Given the description of an element on the screen output the (x, y) to click on. 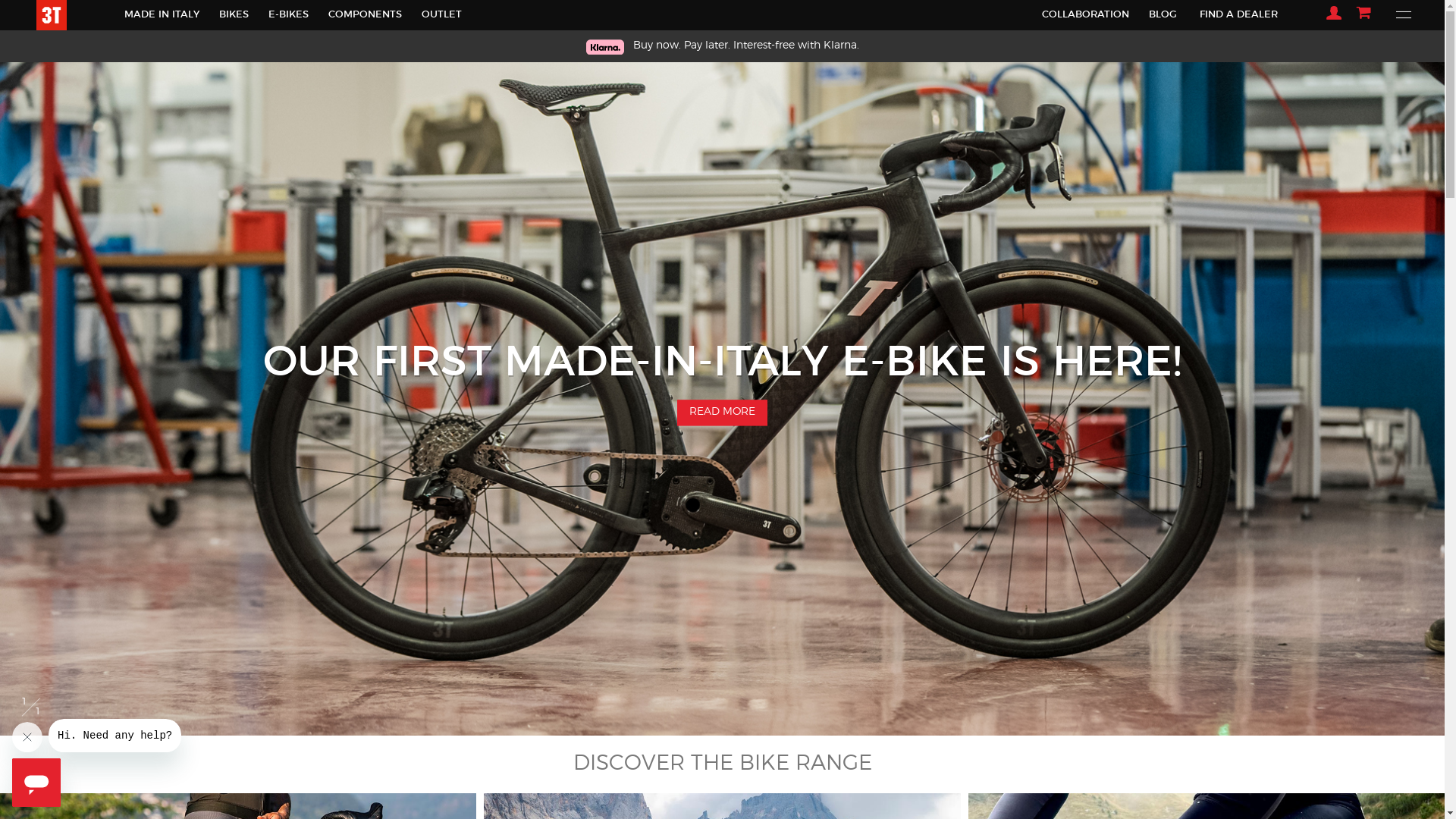
READ MORE Element type: text (722, 412)
OUTLET Element type: text (441, 15)
Button to launch messaging window Element type: hover (36, 782)
COMPONENTS Element type: text (364, 15)
Message from company Element type: hover (114, 735)
MADE IN ITALY Element type: text (161, 15)
Close message Element type: hover (27, 736)
FIND A DEALER Element type: text (1238, 15)
BLOG Element type: text (1162, 15)
COLLABORATION Element type: text (1085, 15)
E-BIKES Element type: text (288, 15)
BIKES Element type: text (233, 15)
DISCOVER THE BIKE RANGE Element type: text (721, 764)
